Given the description of an element on the screen output the (x, y) to click on. 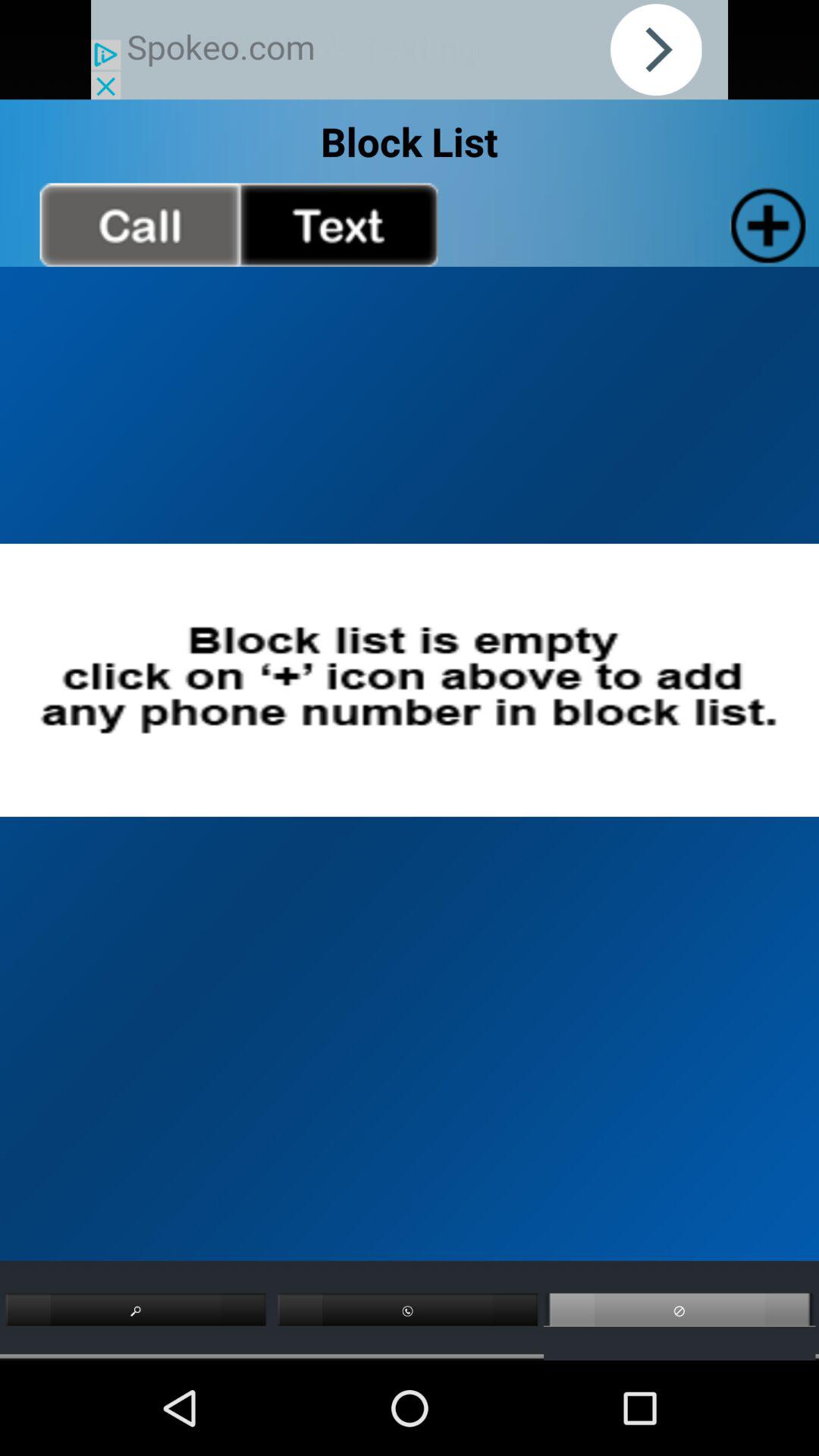
add phone number to block list (765, 224)
